Given the description of an element on the screen output the (x, y) to click on. 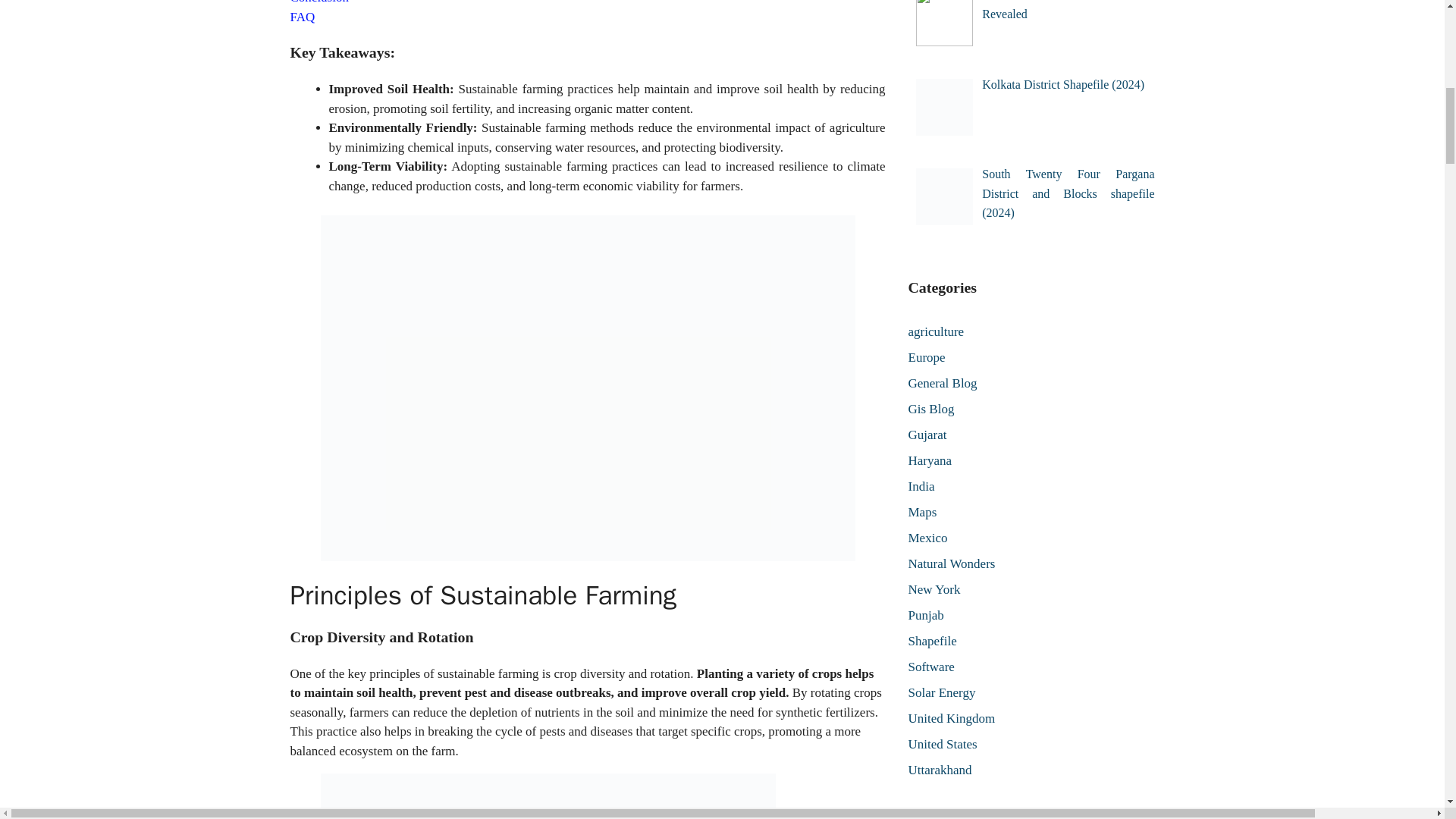
FAQ (301, 16)
Conclusion (318, 2)
